Given the description of an element on the screen output the (x, y) to click on. 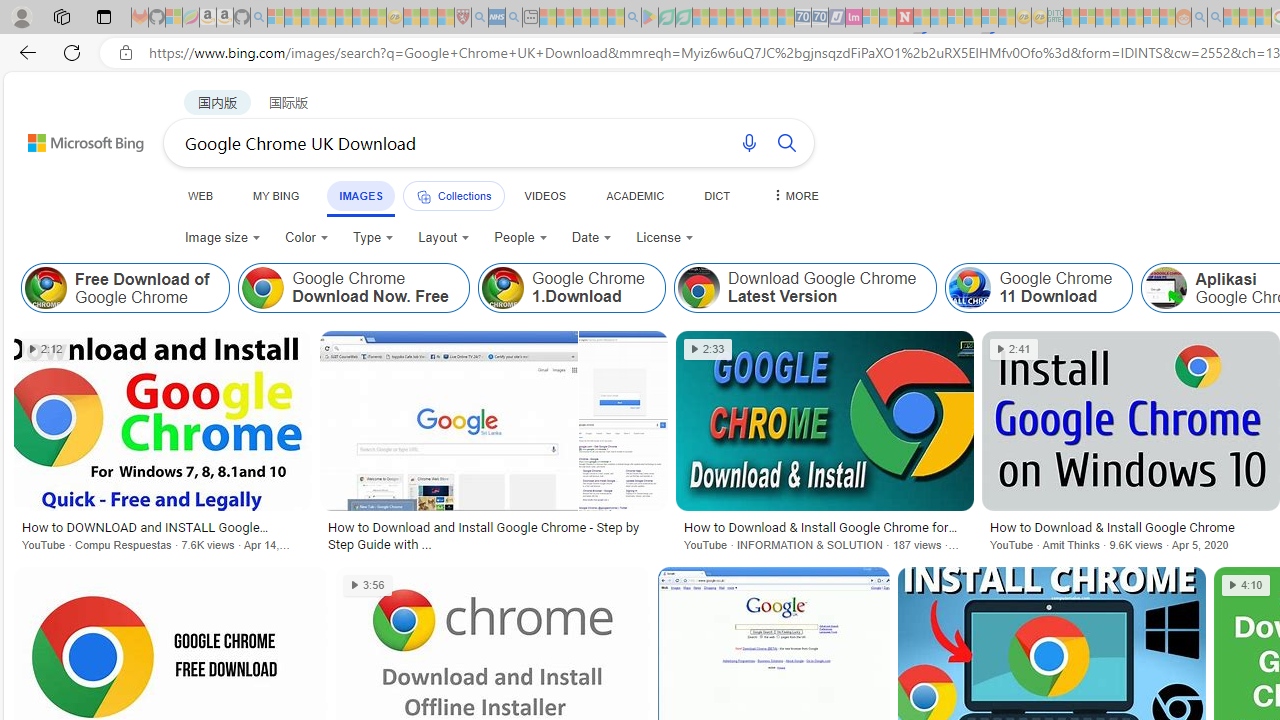
Google Chrome 11 Download (1038, 287)
2:33 (708, 349)
WEB (201, 195)
4:10 (1246, 585)
Google Chrome Download Now. Free (353, 287)
Google Chrome 11 Download (970, 287)
Google Chrome Download Now. Free (263, 287)
How to DOWNLOAD and INSTALL Google Chrome in 2 MINUTES (162, 527)
